Given the description of an element on the screen output the (x, y) to click on. 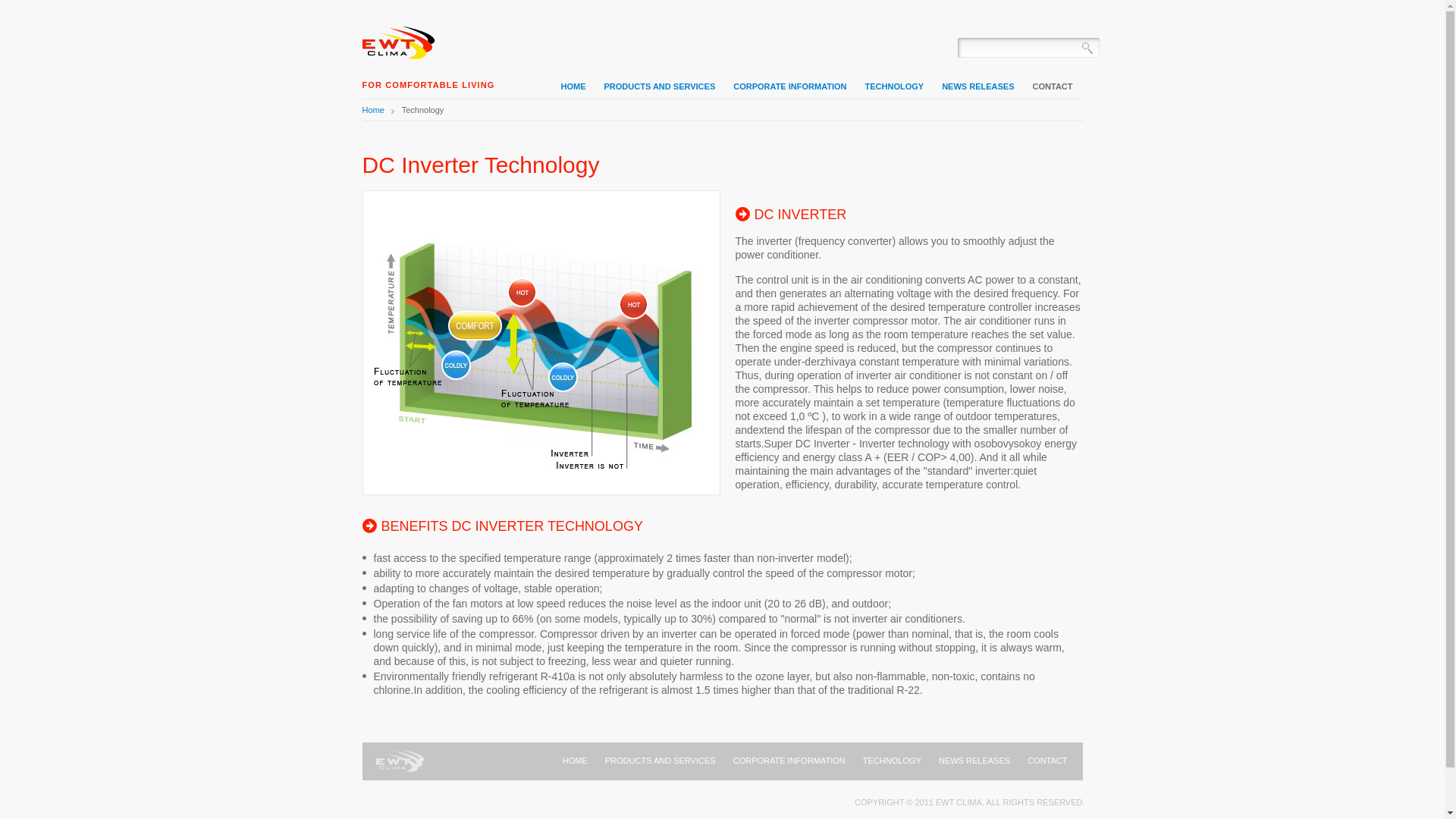
CORPORATE INFORMATION (789, 760)
TECHNOLOGY (895, 87)
HOME (574, 87)
Home (400, 41)
. (1088, 47)
CORPORATE INFORMATION (790, 87)
Home (400, 761)
Home (380, 109)
. (1088, 47)
PRODUCTS AND SERVICES (660, 87)
